Given the description of an element on the screen output the (x, y) to click on. 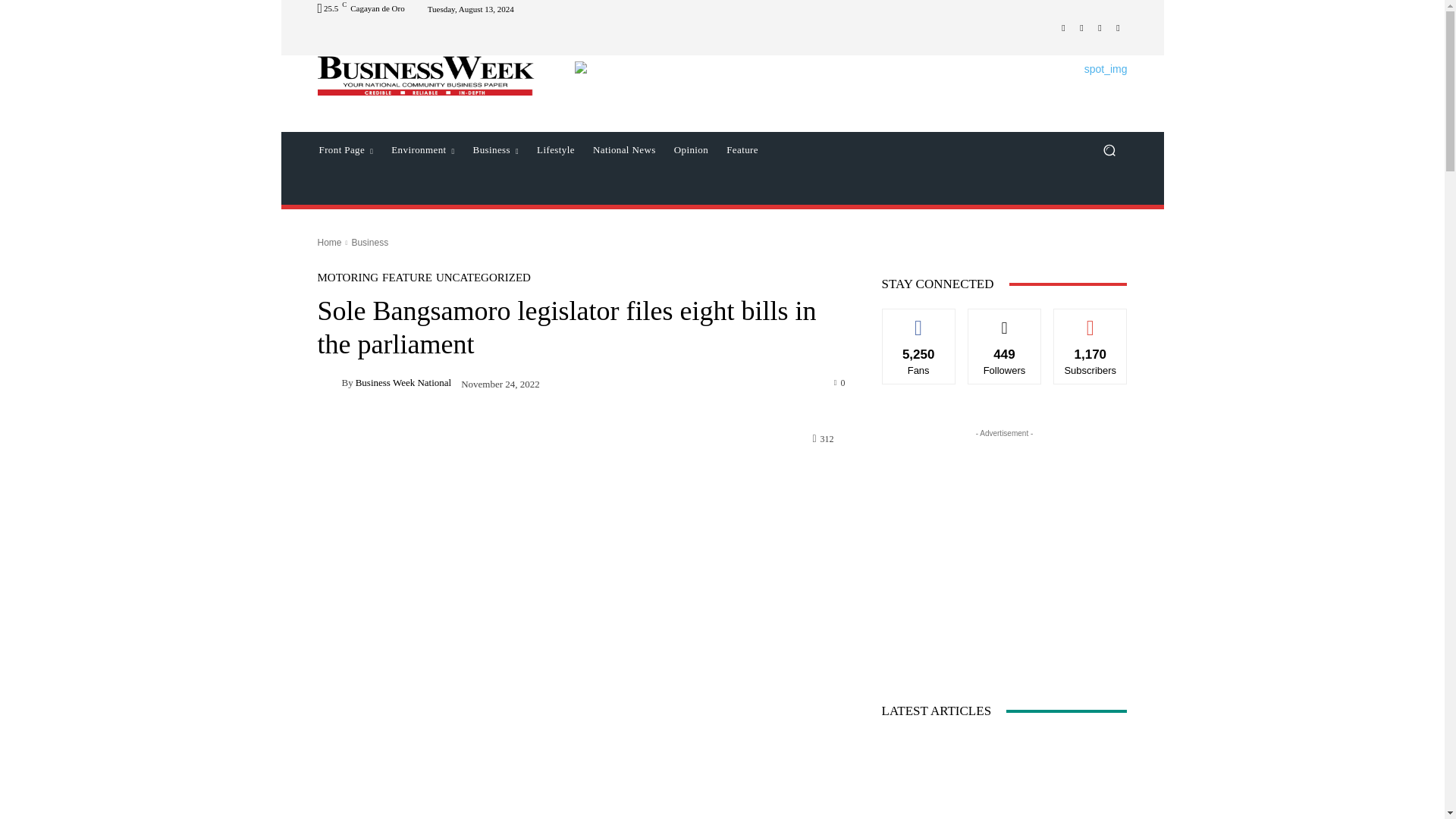
Twitter (1080, 27)
Front Page (344, 149)
Instagram (1099, 27)
Youtube (1117, 27)
Environment (422, 149)
Facebook (1062, 27)
